Given the description of an element on the screen output the (x, y) to click on. 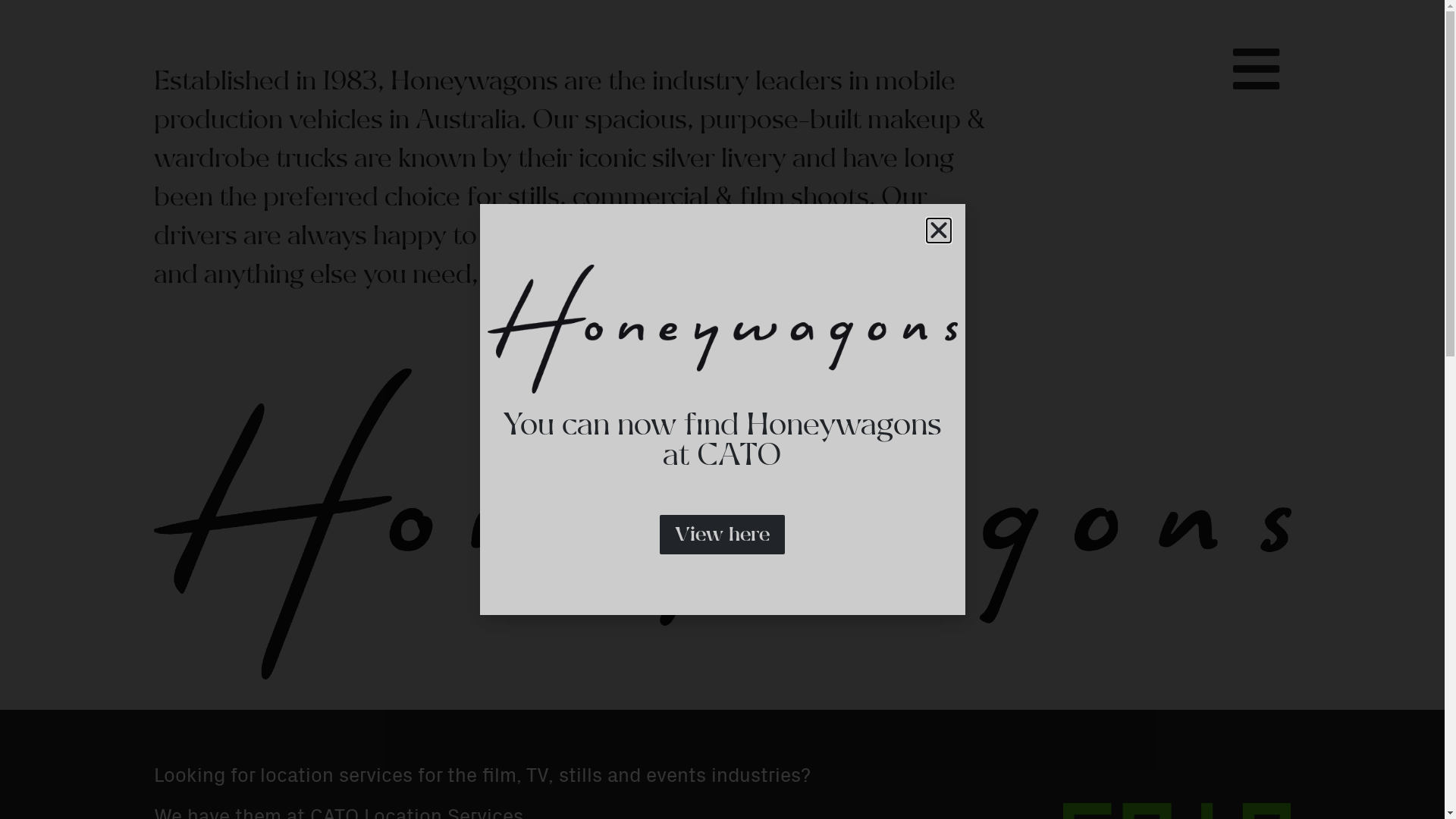
View here Element type: text (721, 534)
